Given the description of an element on the screen output the (x, y) to click on. 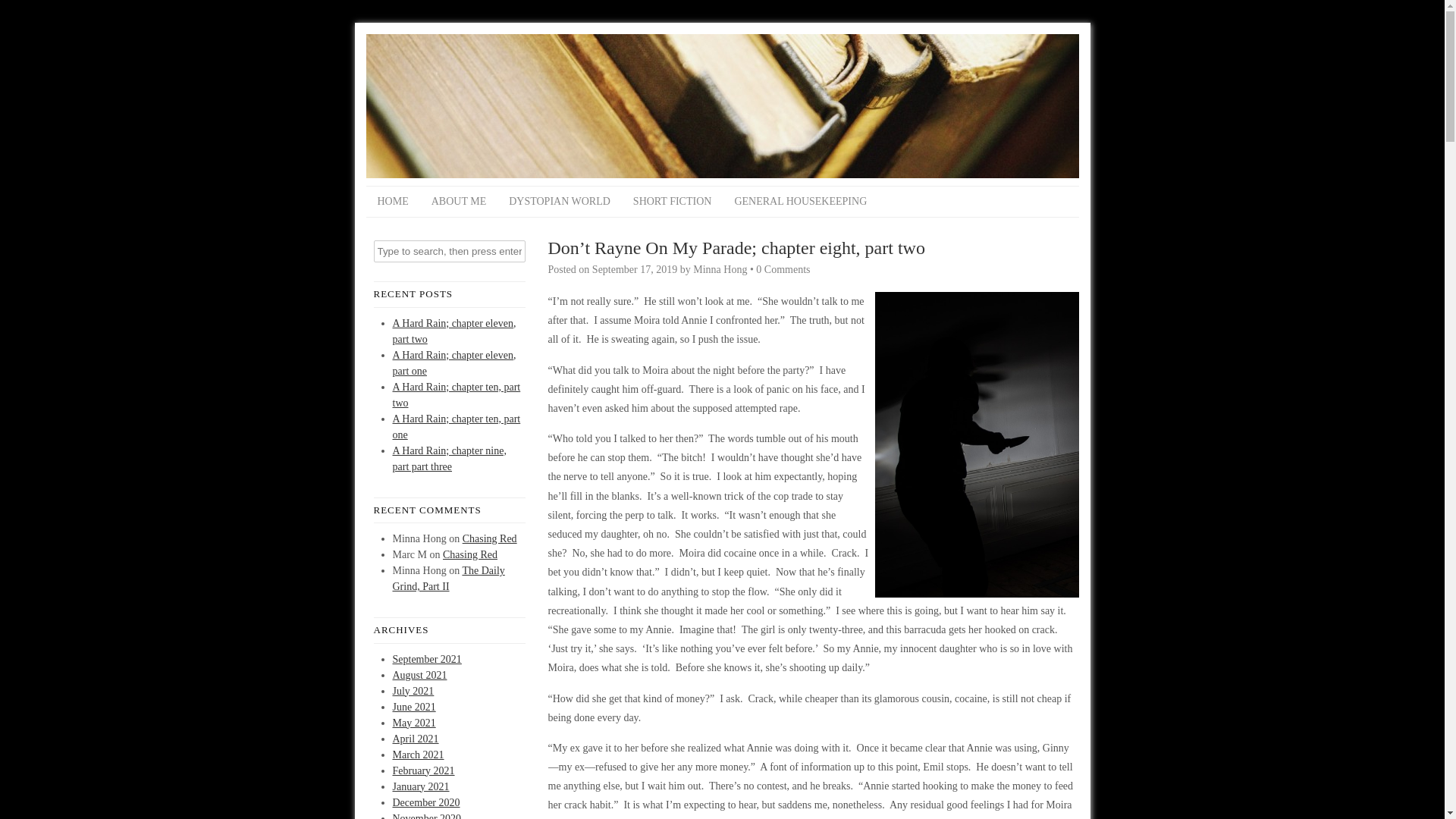
September 2021 (427, 659)
The Daily Grind, Part II (449, 578)
HOME (392, 201)
January 2021 (421, 786)
GENERAL HOUSEKEEPING (799, 201)
December 2020 (426, 801)
February 2021 (423, 769)
A Hard Rain; chapter ten, part one (457, 425)
Search (23, 10)
View all posts by Minna Hong (719, 269)
June 2021 (414, 706)
A Hard Rain; chapter eleven, part one (454, 361)
A Hard Rain; chapter ten, part two (457, 393)
Type to search, then press enter (448, 251)
Chasing Red (489, 538)
